Given the description of an element on the screen output the (x, y) to click on. 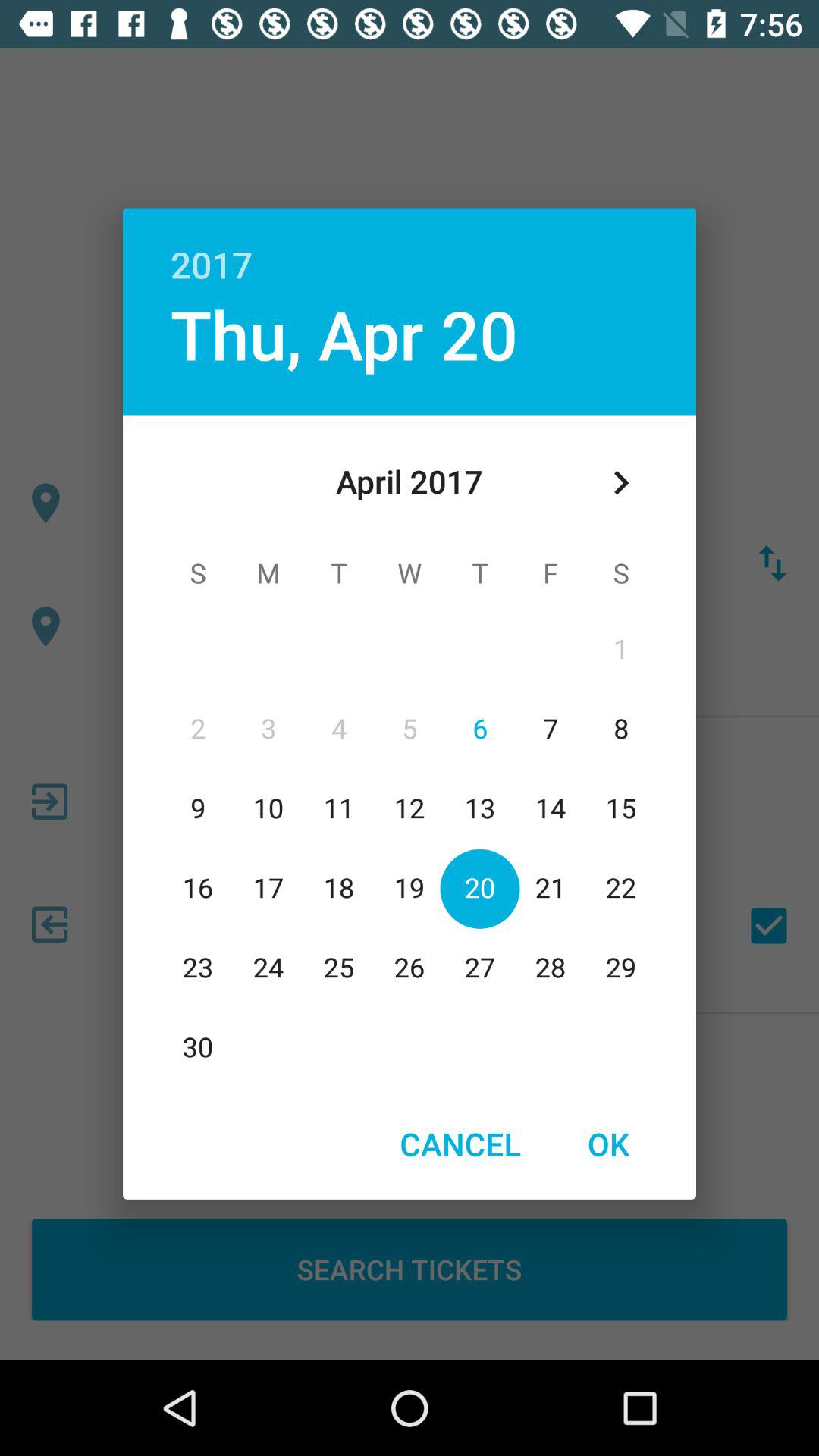
turn off cancel item (459, 1143)
